Given the description of an element on the screen output the (x, y) to click on. 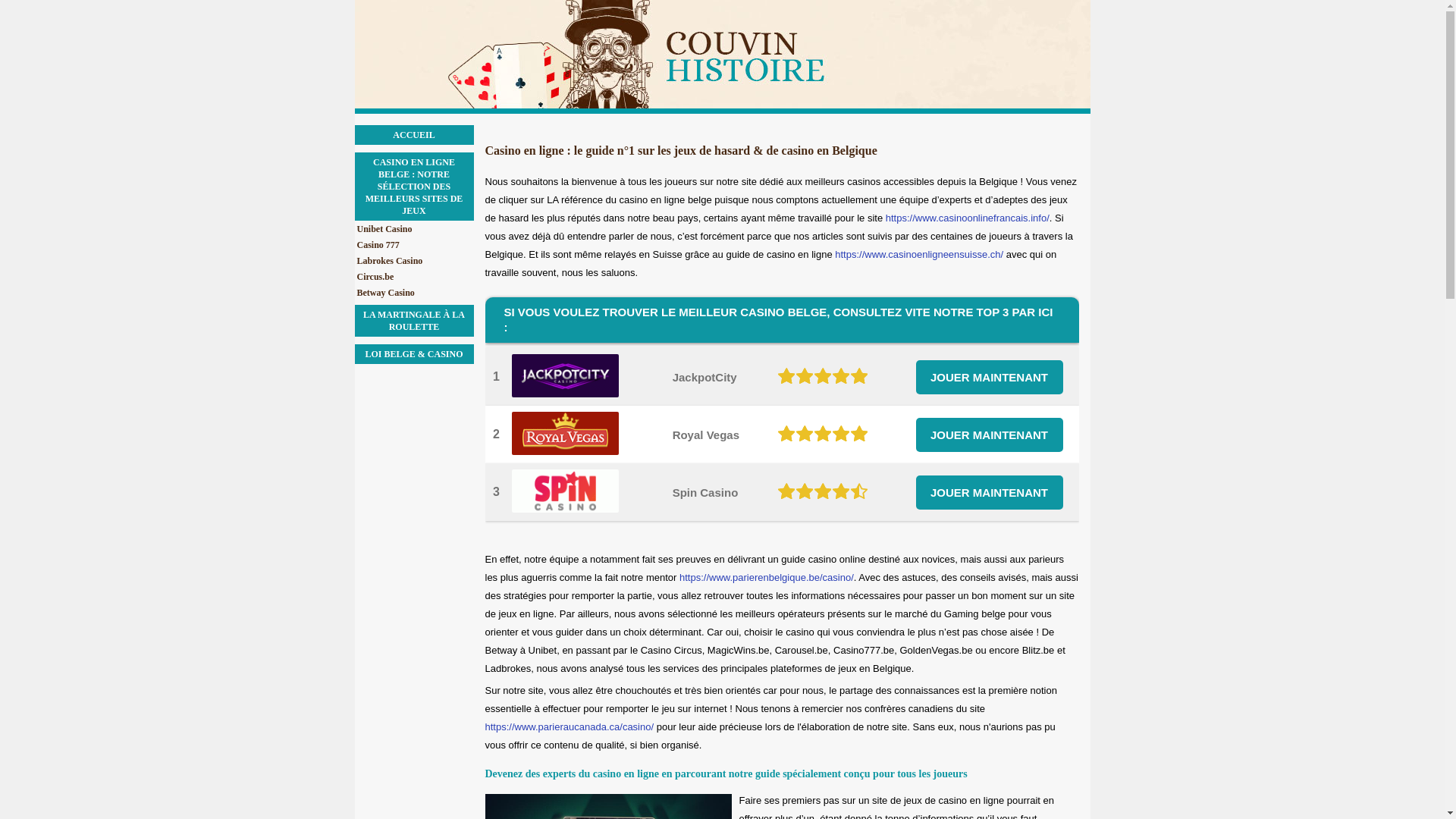
Unibet Casino Element type: text (414, 228)
https://www.parierenbelgique.be/casino/ Element type: text (766, 577)
https://www.casinoonlinefrancais.info/ Element type: text (967, 217)
Labrokes Casino Element type: text (414, 260)
JOUER MAINTENANT Element type: text (989, 491)
ACCUEIL Element type: text (413, 134)
JOUER MAINTENANT Element type: text (989, 376)
Betway Casino Element type: text (414, 292)
LOI BELGE & CASINO Element type: text (413, 354)
https://www.casinoenligneensuisse.ch/ Element type: text (918, 254)
Casino 777 Element type: text (414, 244)
https://www.parieraucanada.ca/casino/ Element type: text (569, 726)
Circus.be Element type: text (414, 276)
JOUER MAINTENANT Element type: text (989, 434)
